Given the description of an element on the screen output the (x, y) to click on. 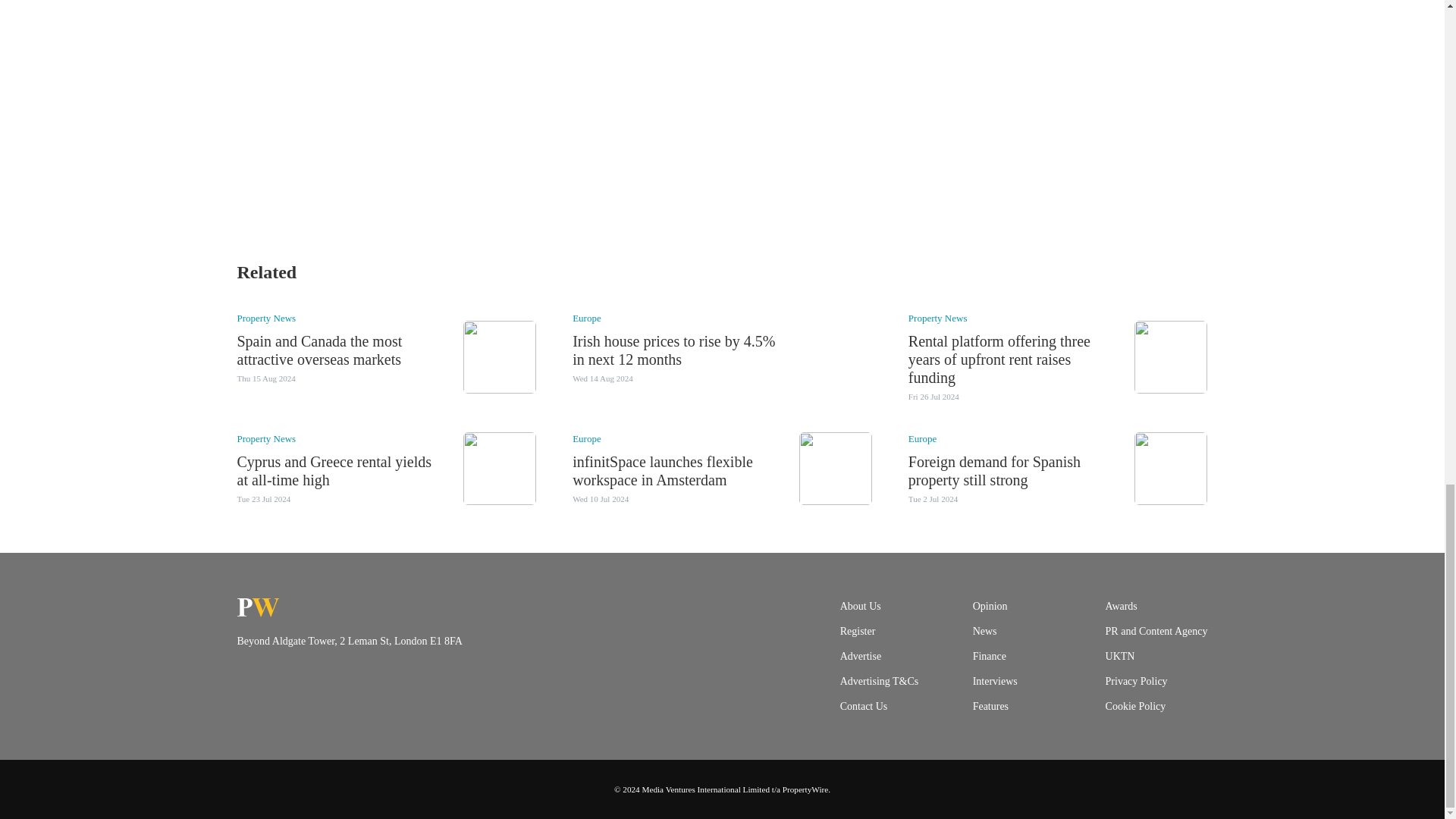
Property News (938, 317)
Europe (586, 317)
Property News (265, 317)
Spain and Canada the most attractive overseas markets (318, 349)
